Given the description of an element on the screen output the (x, y) to click on. 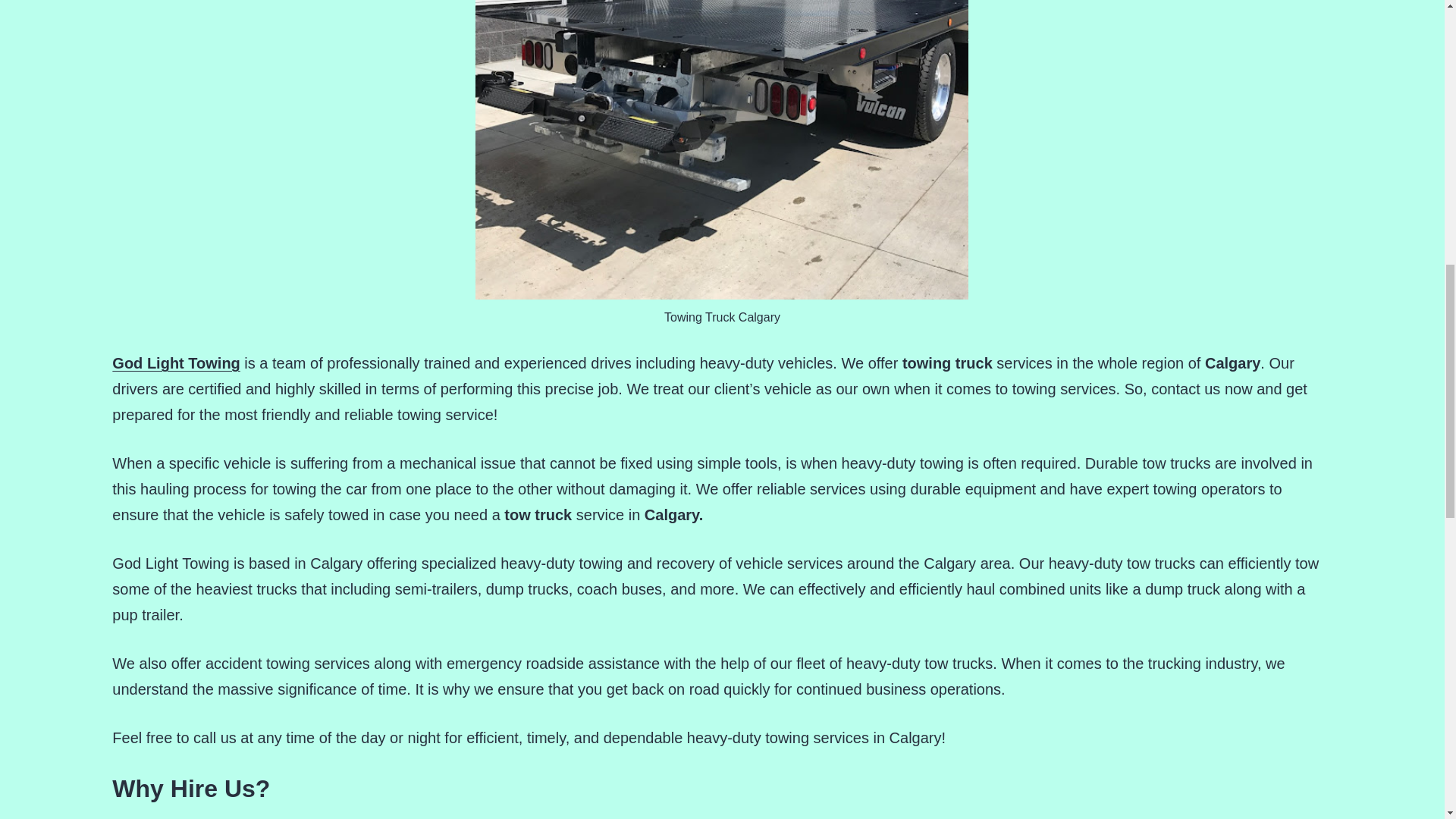
God Light Towing (176, 362)
